Given the description of an element on the screen output the (x, y) to click on. 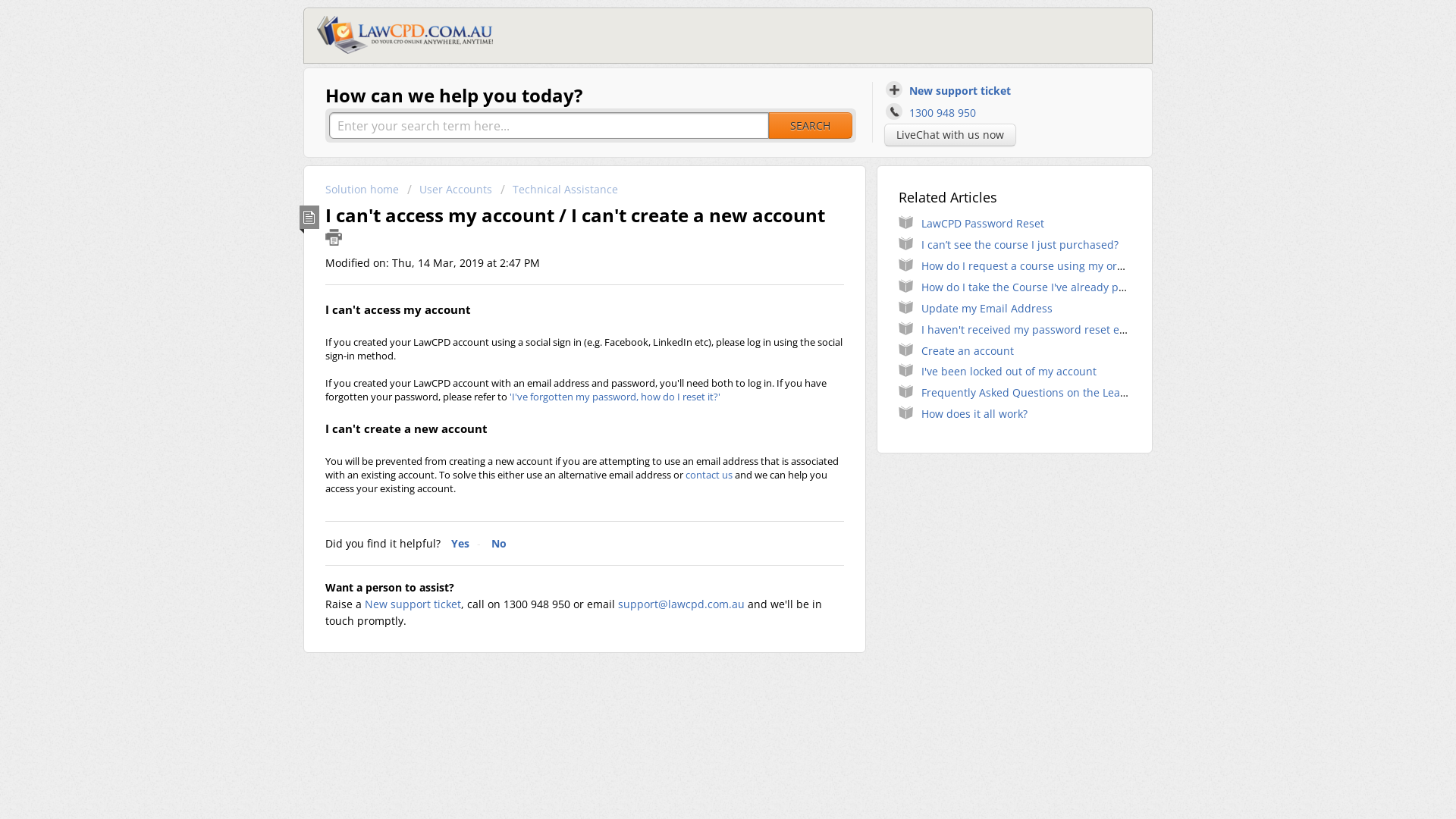
How do I request a course using my organisation's credits? Element type: text (1070, 265)
How does it all work? Element type: text (974, 413)
Frequently Asked Questions on the Learner Dashboard Element type: text (1061, 392)
I haven't received my password reset email Element type: text (1031, 329)
User Accounts Element type: text (449, 189)
SEARCH Element type: text (810, 125)
1300 948 950 Element type: text (933, 111)
LawCPD Password Reset Element type: text (982, 223)
New support ticket Element type: text (412, 603)
Update my Email Address Element type: text (986, 308)
support@lawcpd.com.au Element type: text (681, 603)
Technical Assistance Element type: text (559, 189)
How do I take the Course I've already purchased Element type: text (1043, 286)
'I've forgotten my password, how do I reset it?' Element type: text (614, 396)
Create an account Element type: text (967, 350)
contact us Element type: text (708, 474)
I've been locked out of my account Element type: text (1008, 371)
Print this Article Element type: hover (333, 237)
New support ticket Element type: text (950, 89)
Solution home Element type: text (363, 189)
LiveChat with us now Element type: text (950, 134)
Chat Element type: hover (1417, 778)
